Given the description of an element on the screen output the (x, y) to click on. 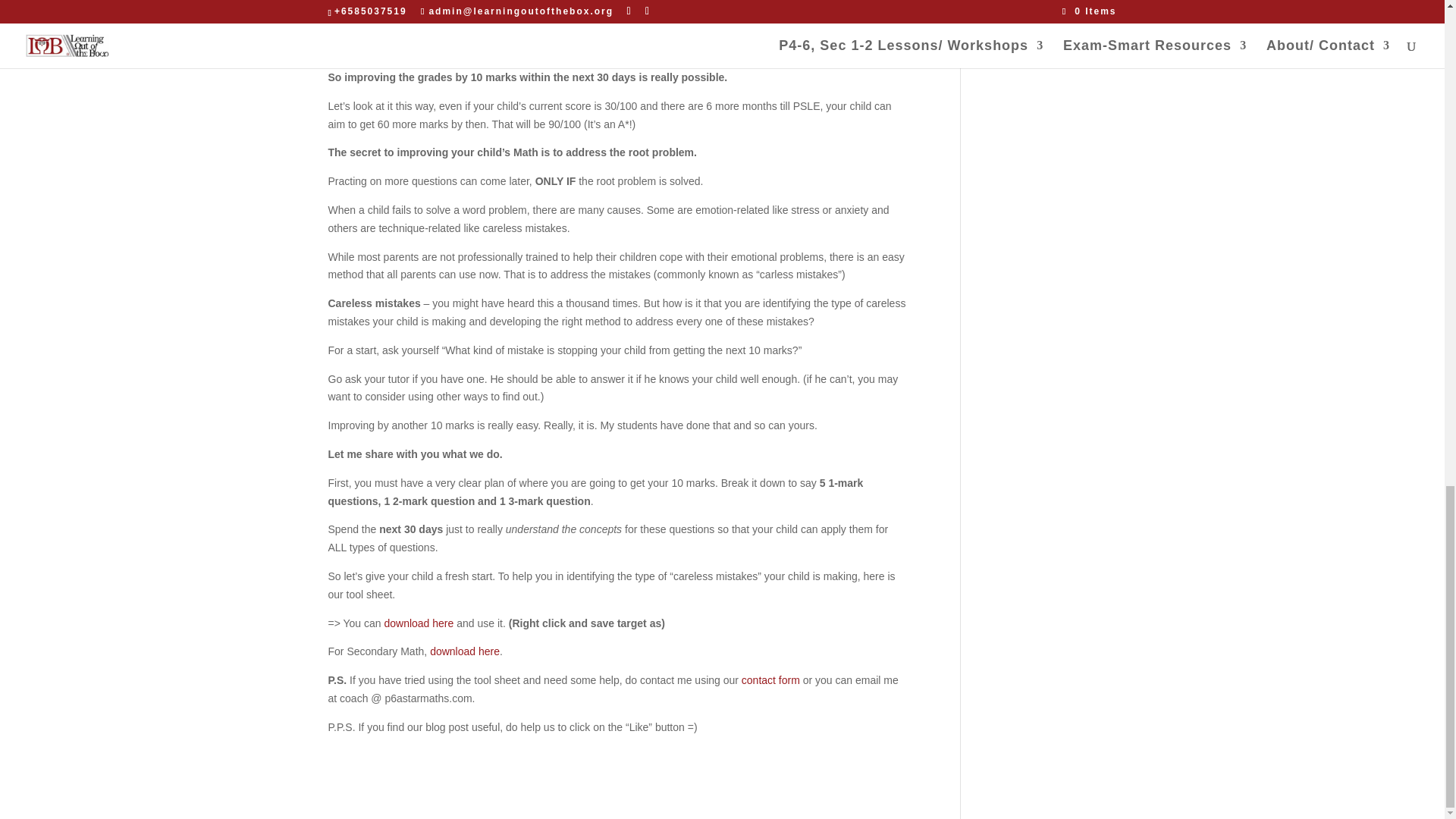
download here (464, 651)
contact form (770, 680)
download here (418, 623)
